Given the description of an element on the screen output the (x, y) to click on. 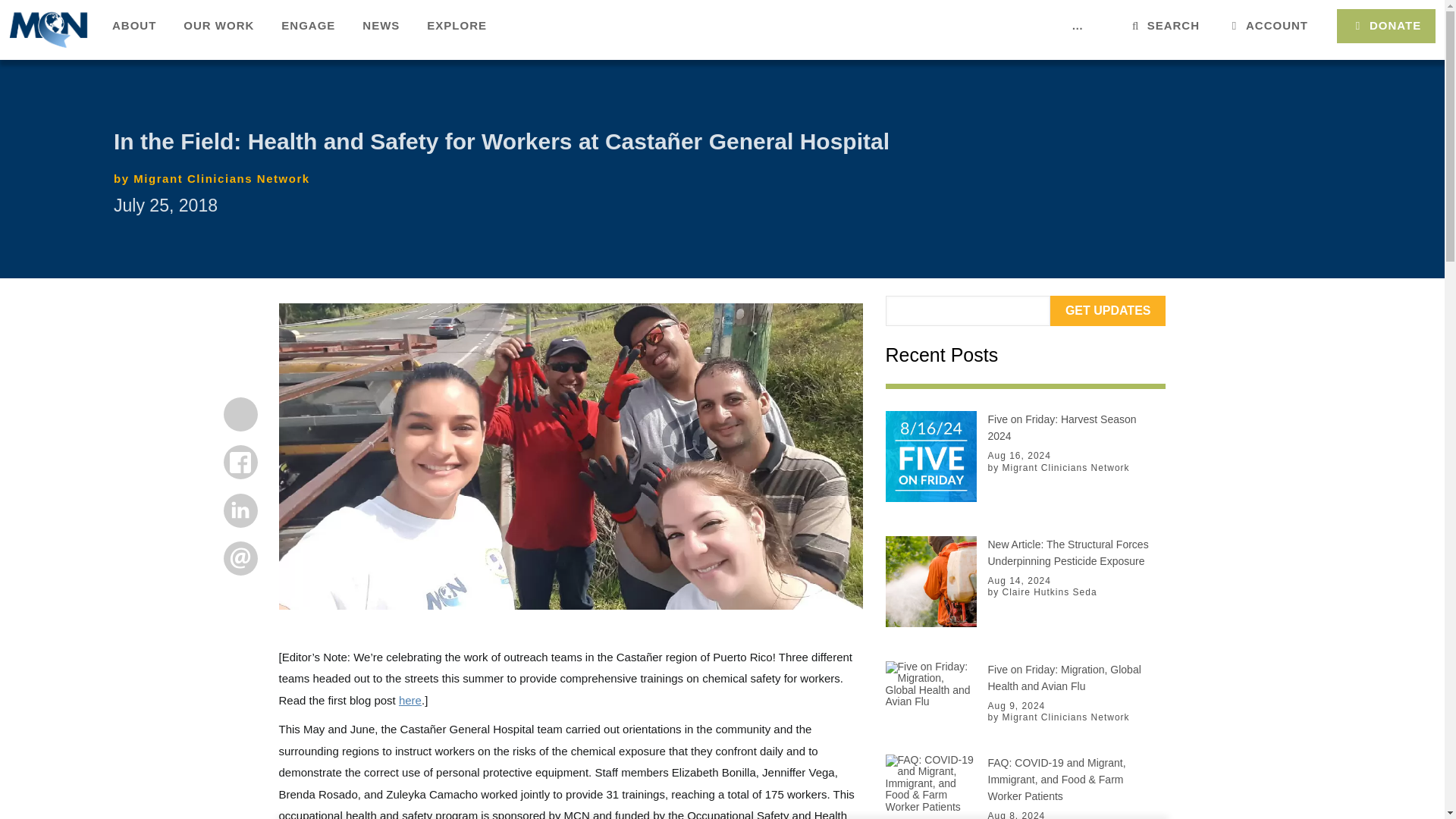
OUR WORK (218, 26)
Get Updates (1107, 310)
ABOUT (134, 26)
ENGAGE (308, 26)
MIGRANT CLINICIANS NETWORK (49, 29)
